Given the description of an element on the screen output the (x, y) to click on. 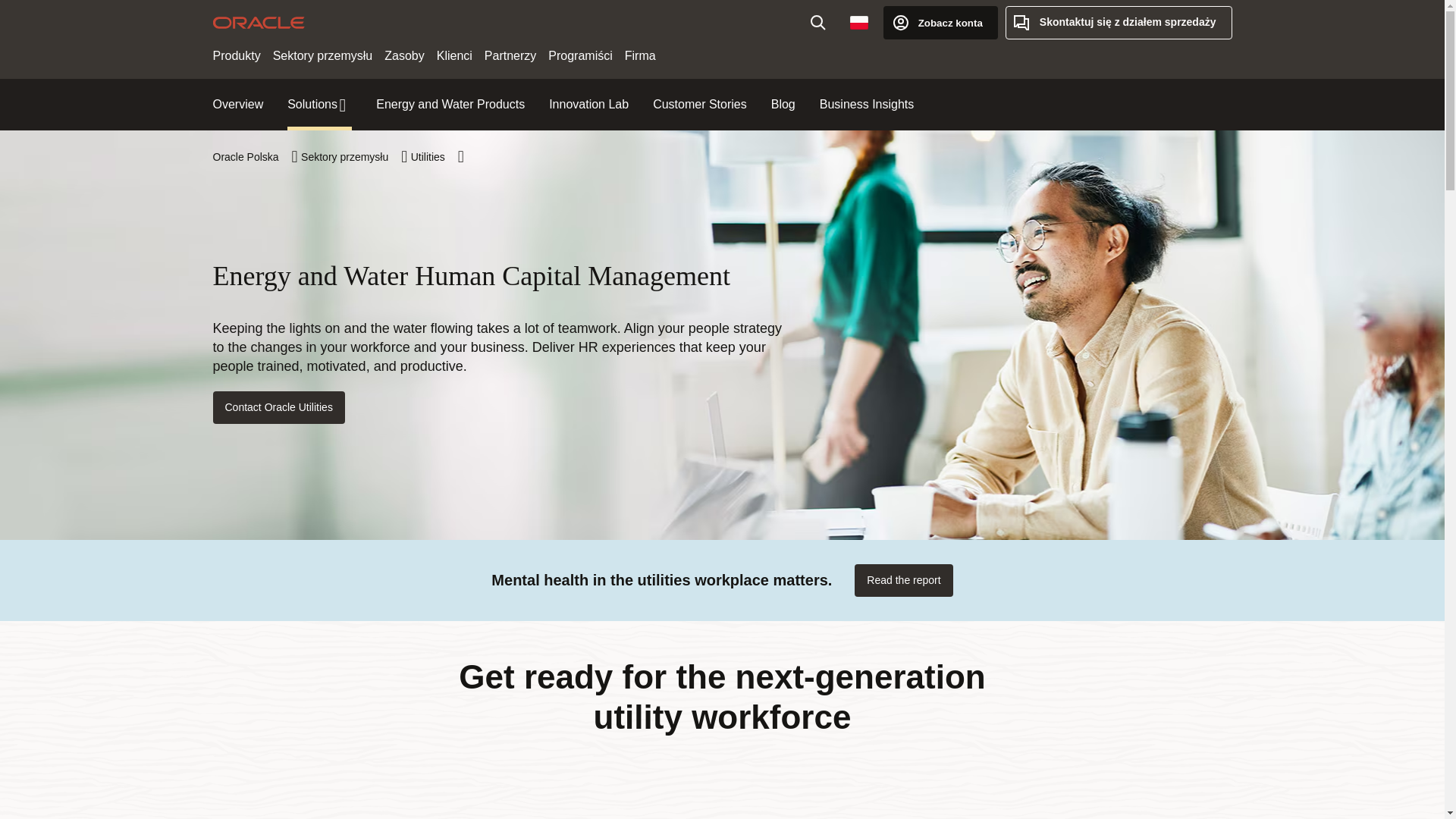
Overview (237, 104)
Zobacz konta (940, 22)
Country (859, 22)
Produkty (236, 55)
Zasoby (403, 55)
Firma (640, 55)
Partnerzy (510, 55)
Klienci (454, 55)
